Given the description of an element on the screen output the (x, y) to click on. 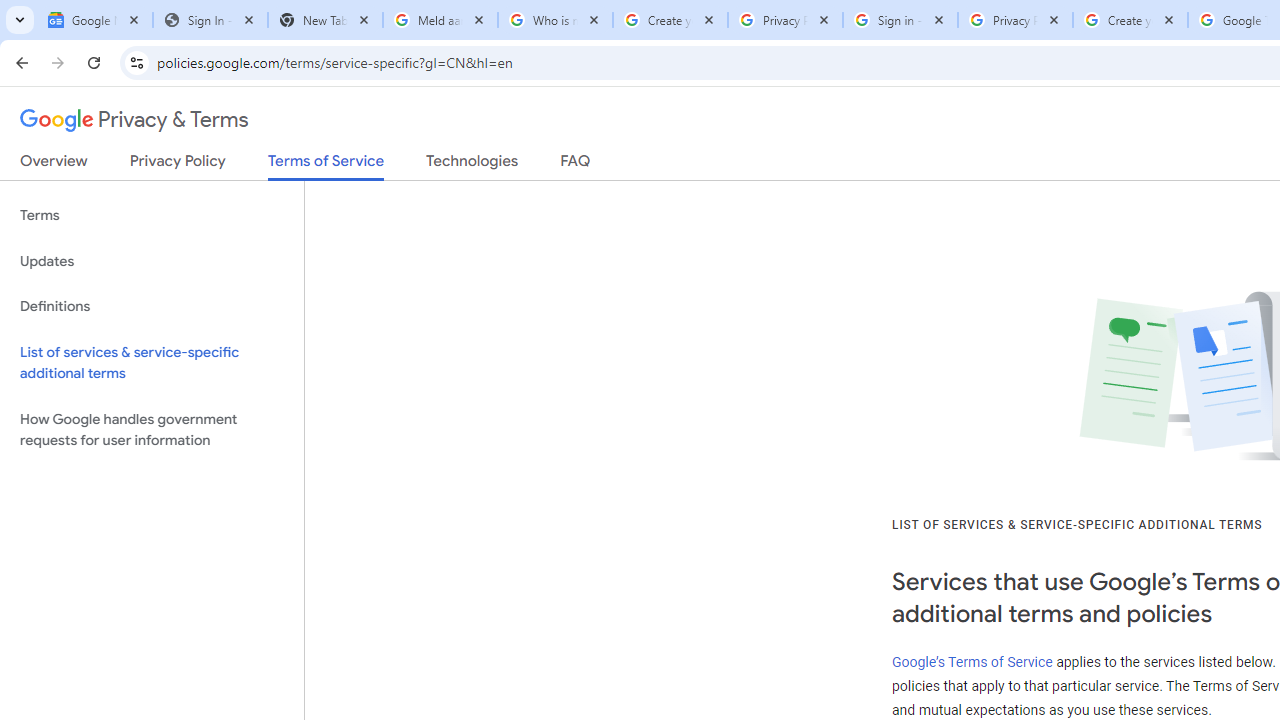
Sign In - USA TODAY (209, 20)
Who is my administrator? - Google Account Help (555, 20)
How Google handles government requests for user information (152, 429)
Sign in - Google Accounts (900, 20)
